Given the description of an element on the screen output the (x, y) to click on. 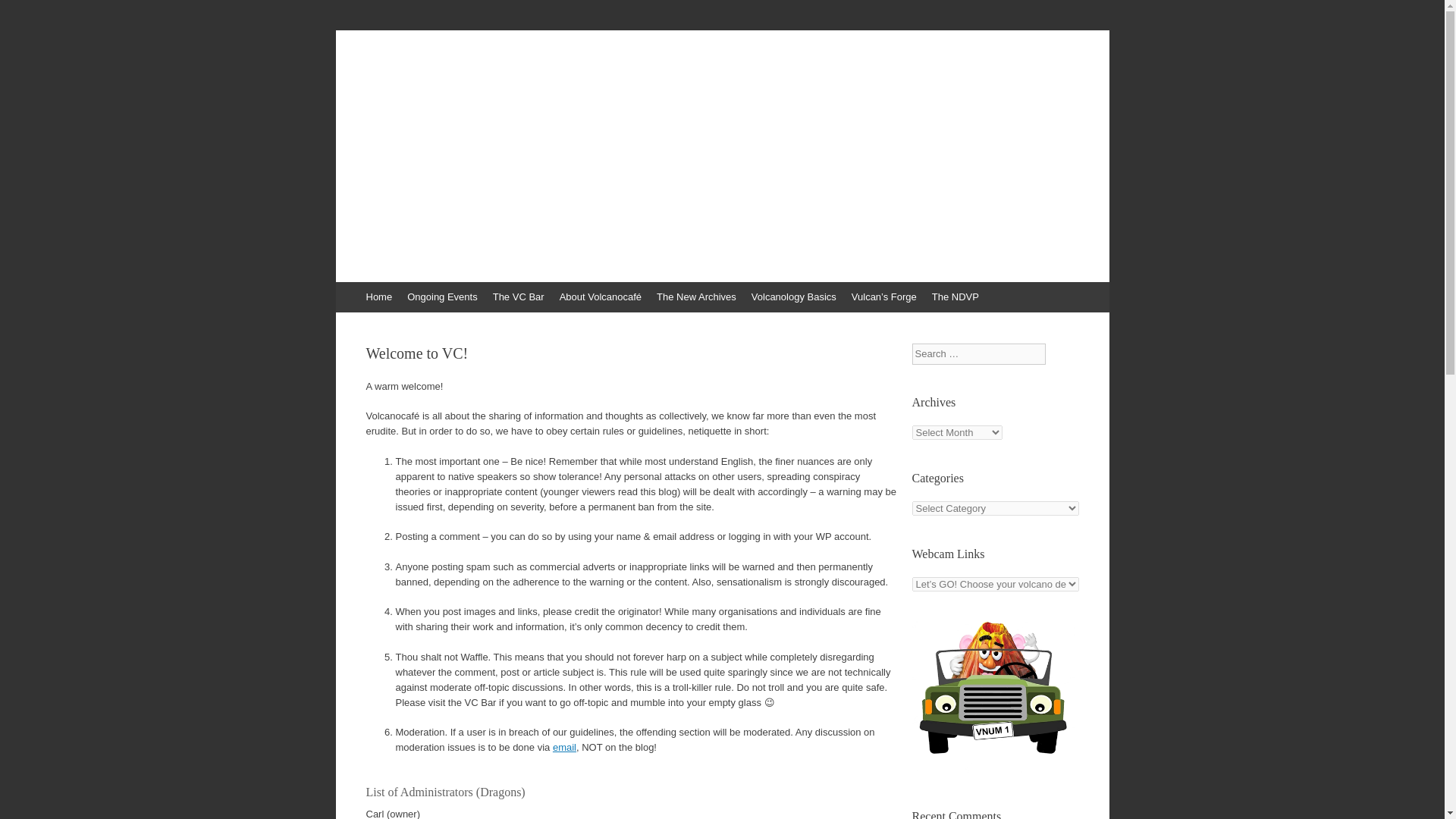
VolcanoCafe (431, 80)
Skip to content (342, 289)
The New Archives (696, 296)
Home (378, 296)
The VC Bar (517, 296)
email (564, 747)
The NDVP (955, 296)
VolcanoCafe (431, 80)
Ongoing Events (441, 296)
Volcanology Basics (794, 296)
